Given the description of an element on the screen output the (x, y) to click on. 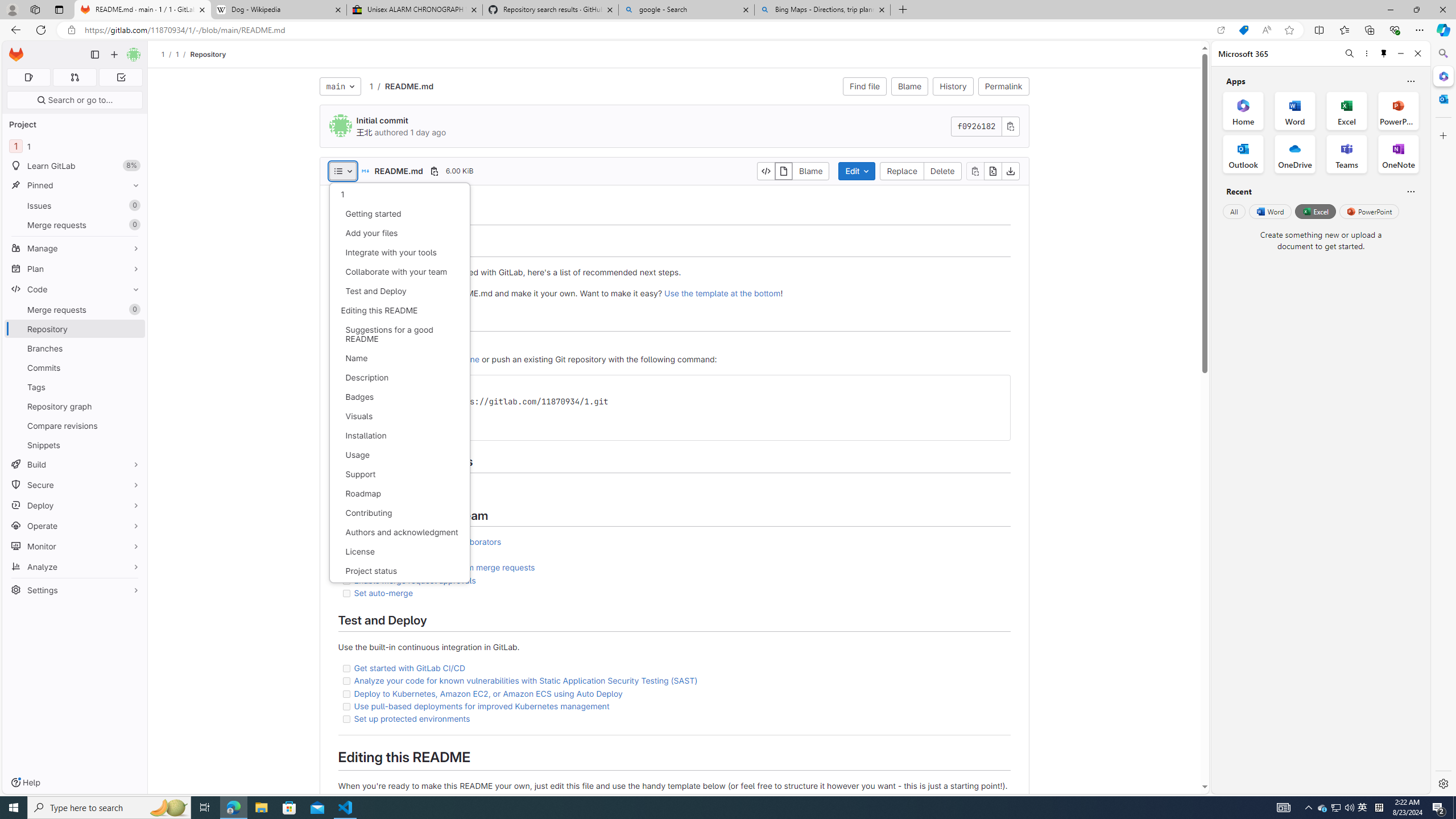
Pin Repository (132, 328)
Get started with GitLab CI/CD (409, 667)
Issues0 (74, 205)
Delete (942, 171)
Name (399, 357)
makeareadme.com (413, 796)
/README.md (402, 85)
License (399, 551)
Class: s16 gl-icon gl-button-icon  (1010, 126)
AutomationID: dropdown-toggle-btn-52 (342, 171)
